Given the description of an element on the screen output the (x, y) to click on. 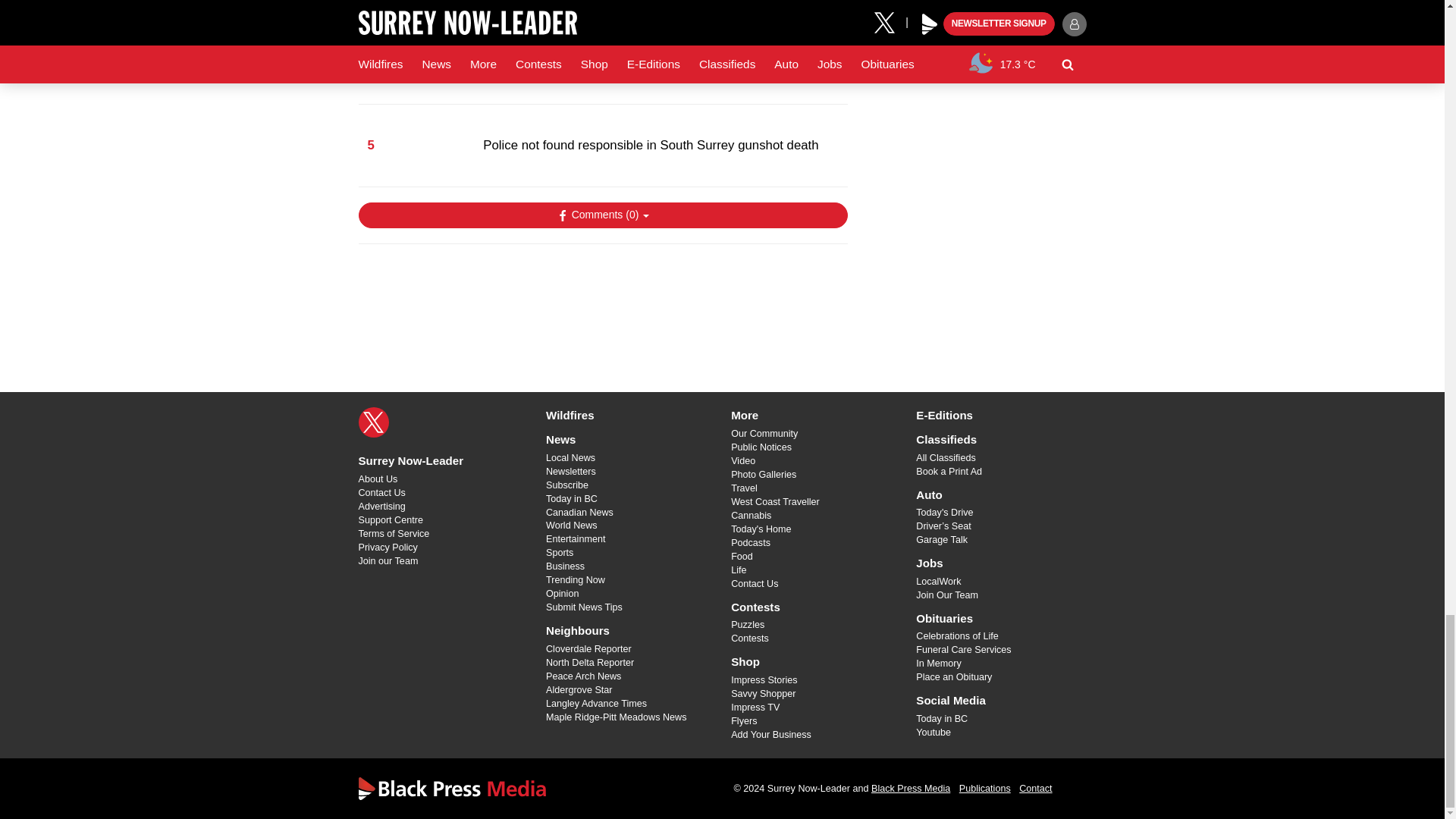
Show Comments (602, 215)
X (373, 422)
